Given the description of an element on the screen output the (x, y) to click on. 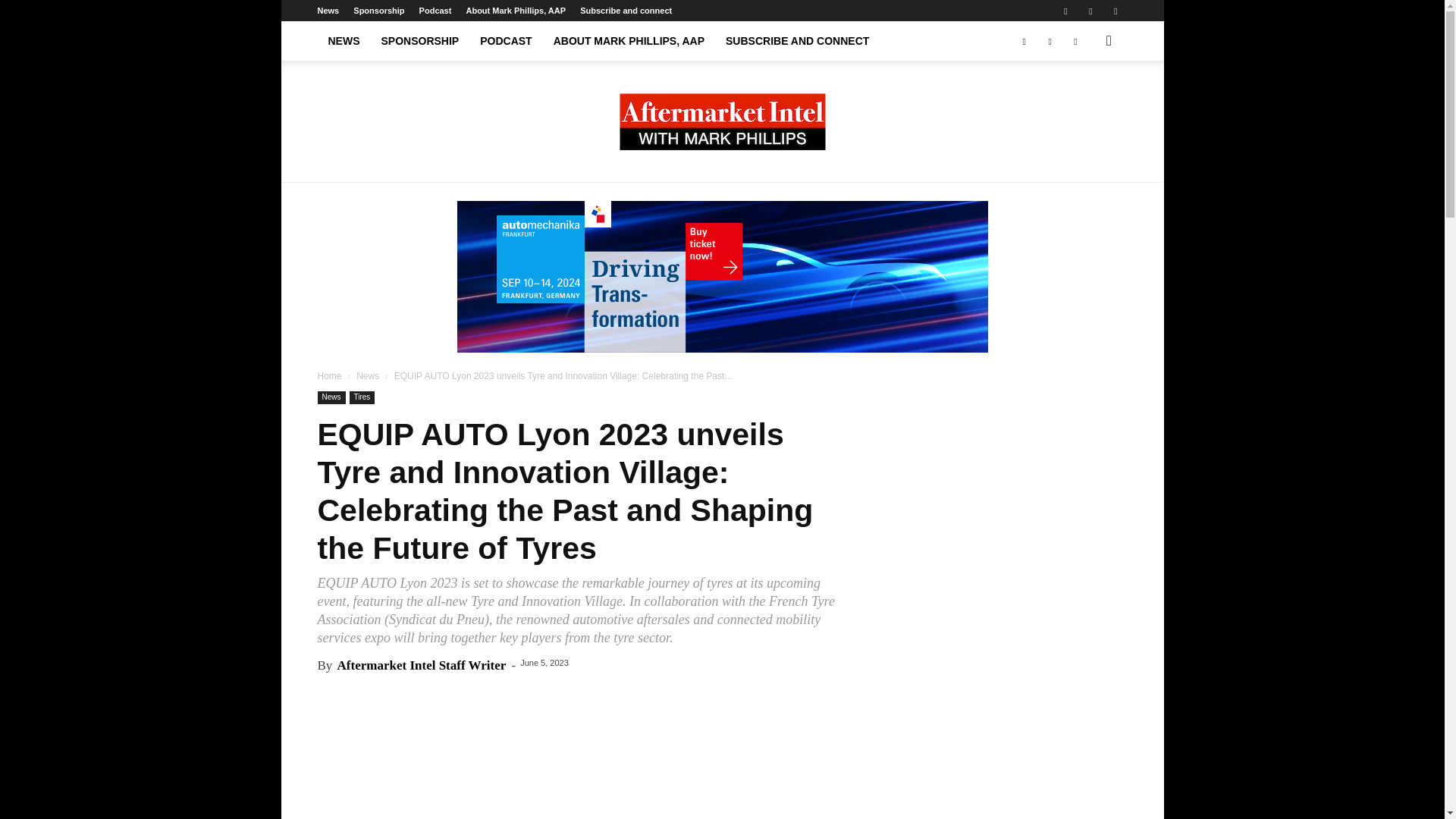
Twitter (1075, 40)
Aftermarket Intel (721, 121)
Home (328, 376)
News (328, 10)
Linkedin (1050, 40)
SPONSORSHIP (418, 40)
Linkedin (1090, 10)
Twitter (1114, 10)
Sponsorship (378, 10)
Subscribe and connect (625, 10)
Podcast (435, 10)
News (367, 376)
NEWS (343, 40)
PODCAST (504, 40)
ABOUT MARK PHILLIPS, AAP (628, 40)
